Given the description of an element on the screen output the (x, y) to click on. 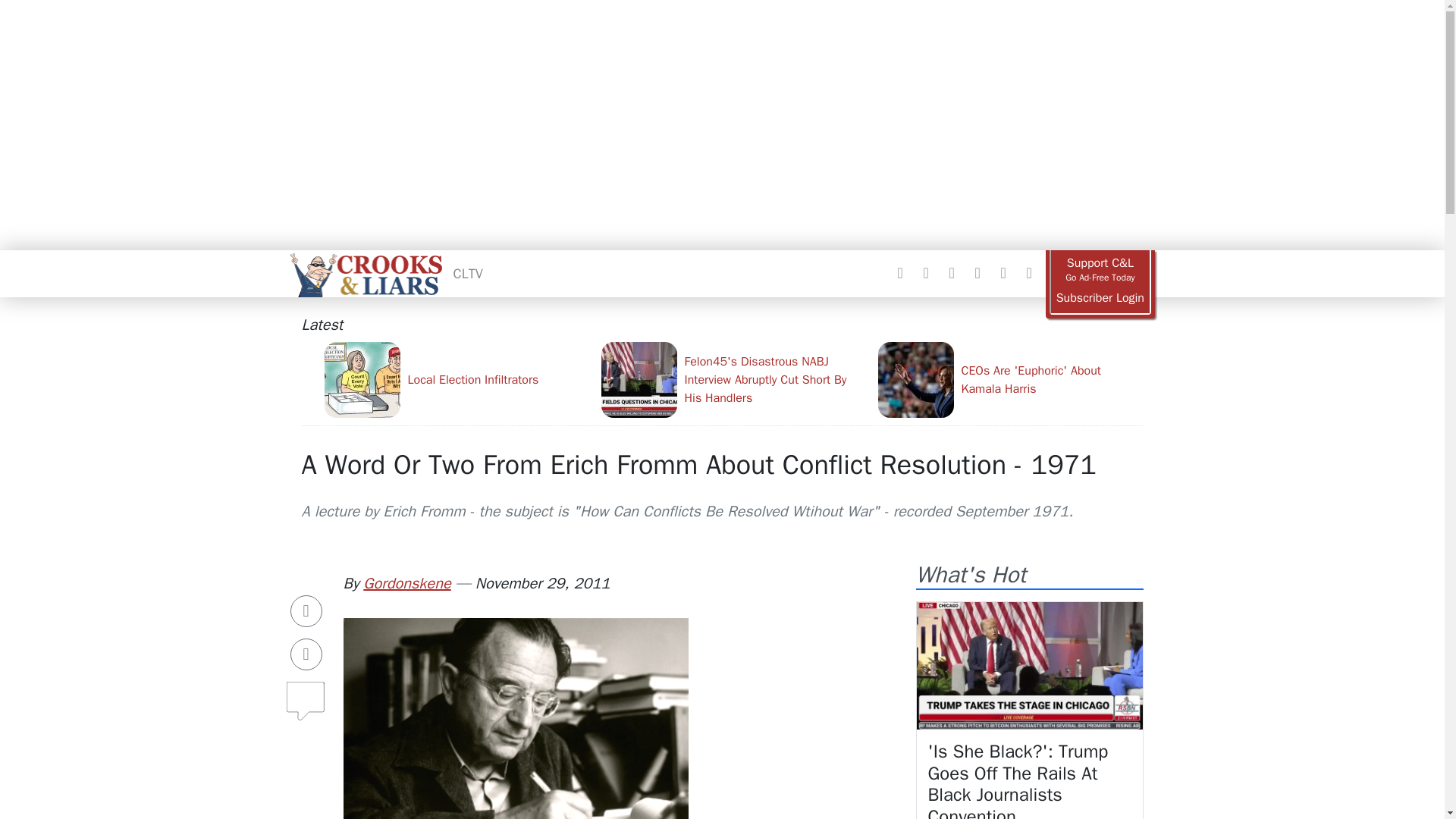
Local Election Infiltrators (456, 379)
Go ad free today! (1099, 270)
Gordonskene (405, 583)
CLTV (467, 273)
Share on Facebook (306, 611)
Subscriber Login (1099, 298)
Gordonskene (405, 583)
Local Election Infiltrators (456, 379)
Login to your ad free account (1099, 298)
Comments (306, 694)
CEOs Are 'Euphoric' About Kamala Harris (1009, 379)
